Given the description of an element on the screen output the (x, y) to click on. 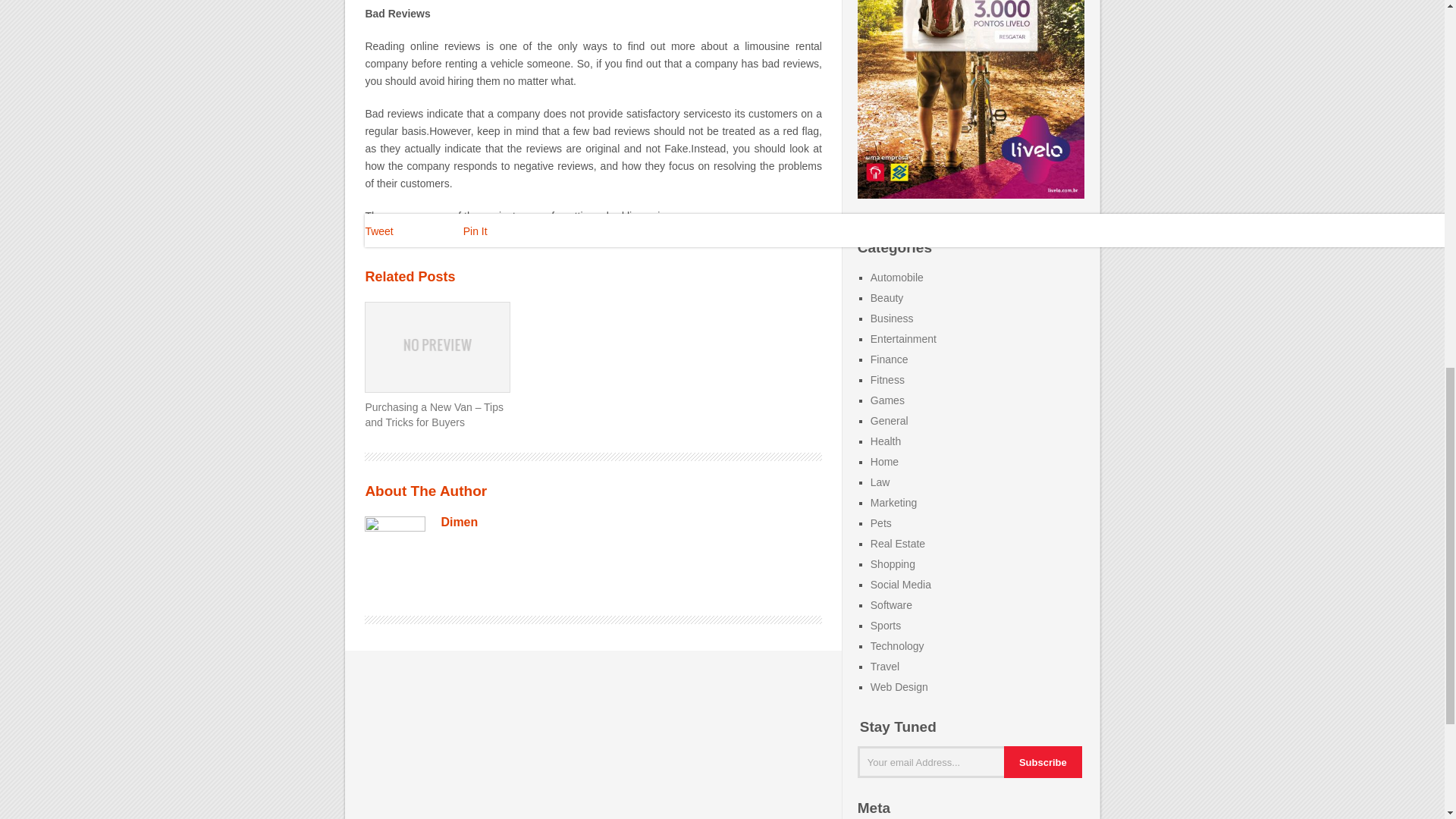
Automobile (896, 277)
Law (879, 481)
Dimen (459, 521)
Games (887, 399)
General (889, 420)
Home (884, 461)
Health (885, 440)
Your email Address... (935, 761)
Entertainment (903, 338)
Fitness (887, 379)
Finance (889, 358)
Business (892, 318)
Beauty (887, 297)
Marketing (893, 502)
Subscribe (1042, 762)
